Given the description of an element on the screen output the (x, y) to click on. 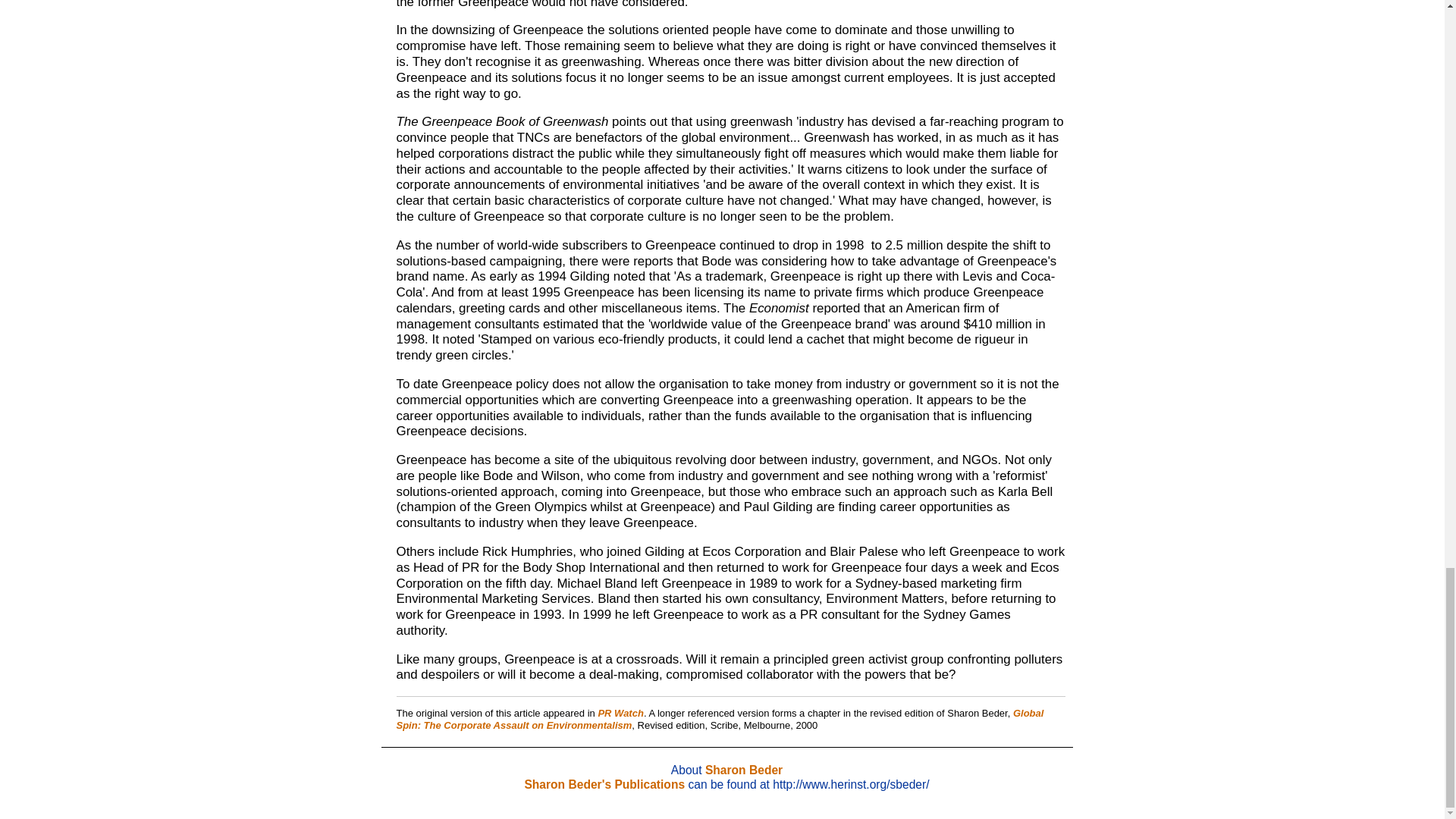
Sharon Beder's Publications (604, 784)
Sharon Beder (743, 769)
PR Watch (619, 713)
Global Spin: The Corporate Assault on Environmentalism (719, 719)
